Given the description of an element on the screen output the (x, y) to click on. 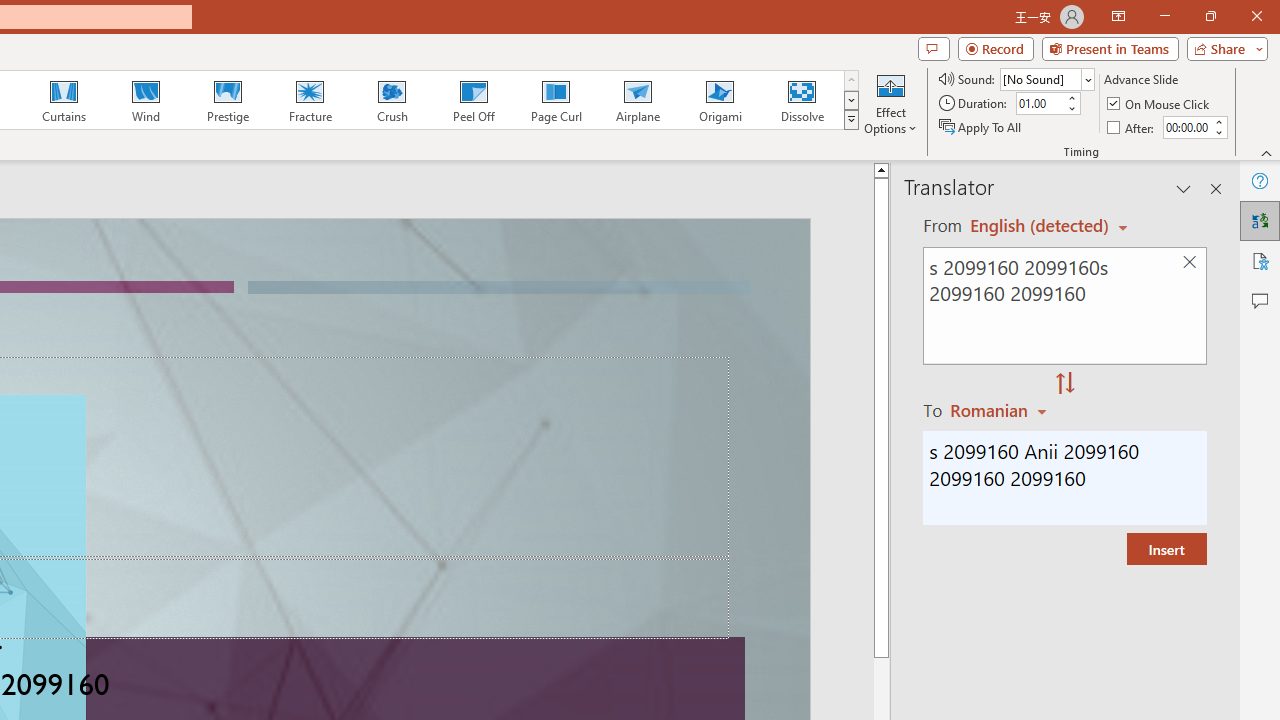
Effect Options (890, 102)
